Given the description of an element on the screen output the (x, y) to click on. 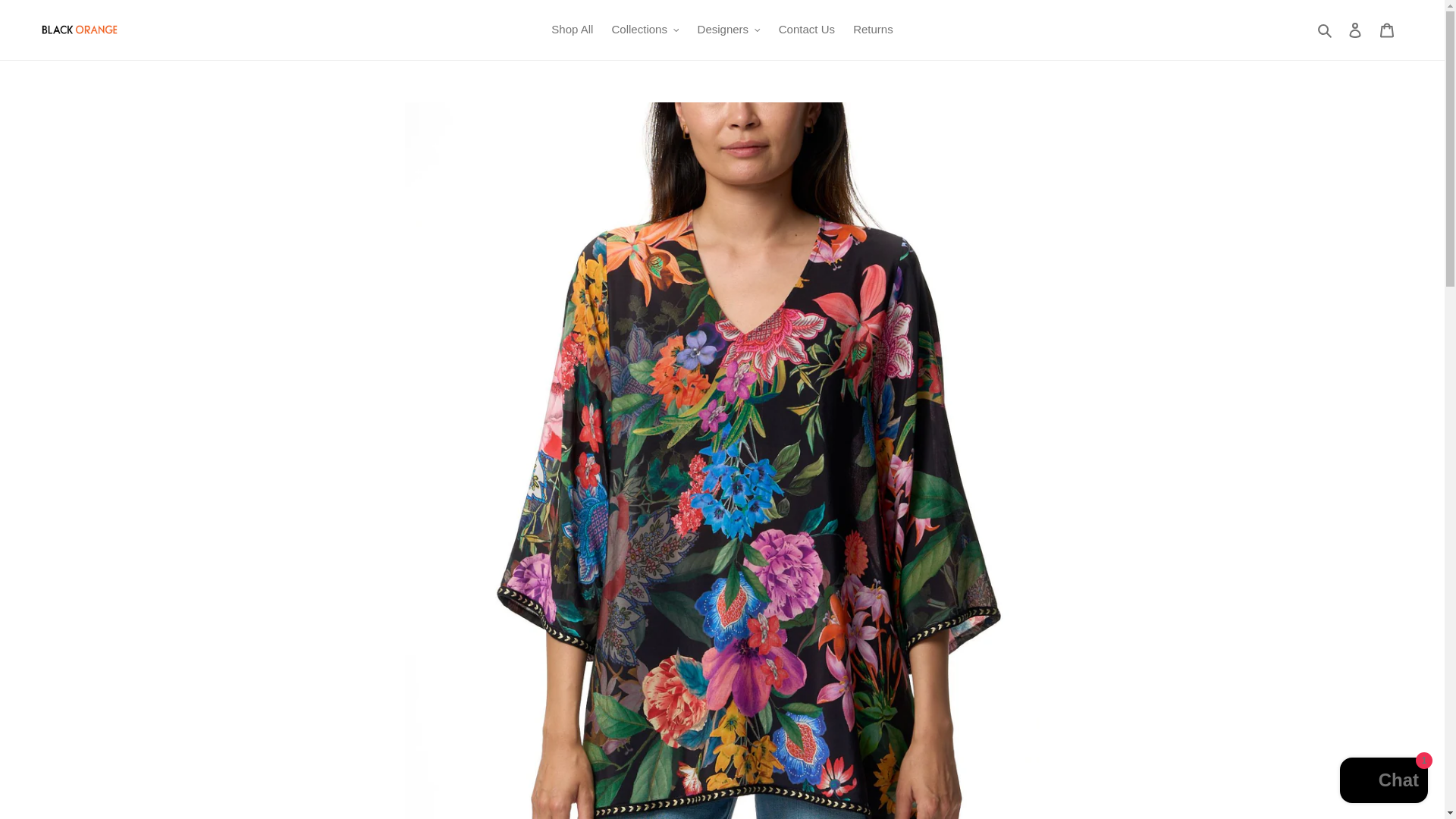
Collections (645, 29)
Shopify online store chat (1383, 781)
Shop All (571, 29)
Designers (729, 29)
